Given the description of an element on the screen output the (x, y) to click on. 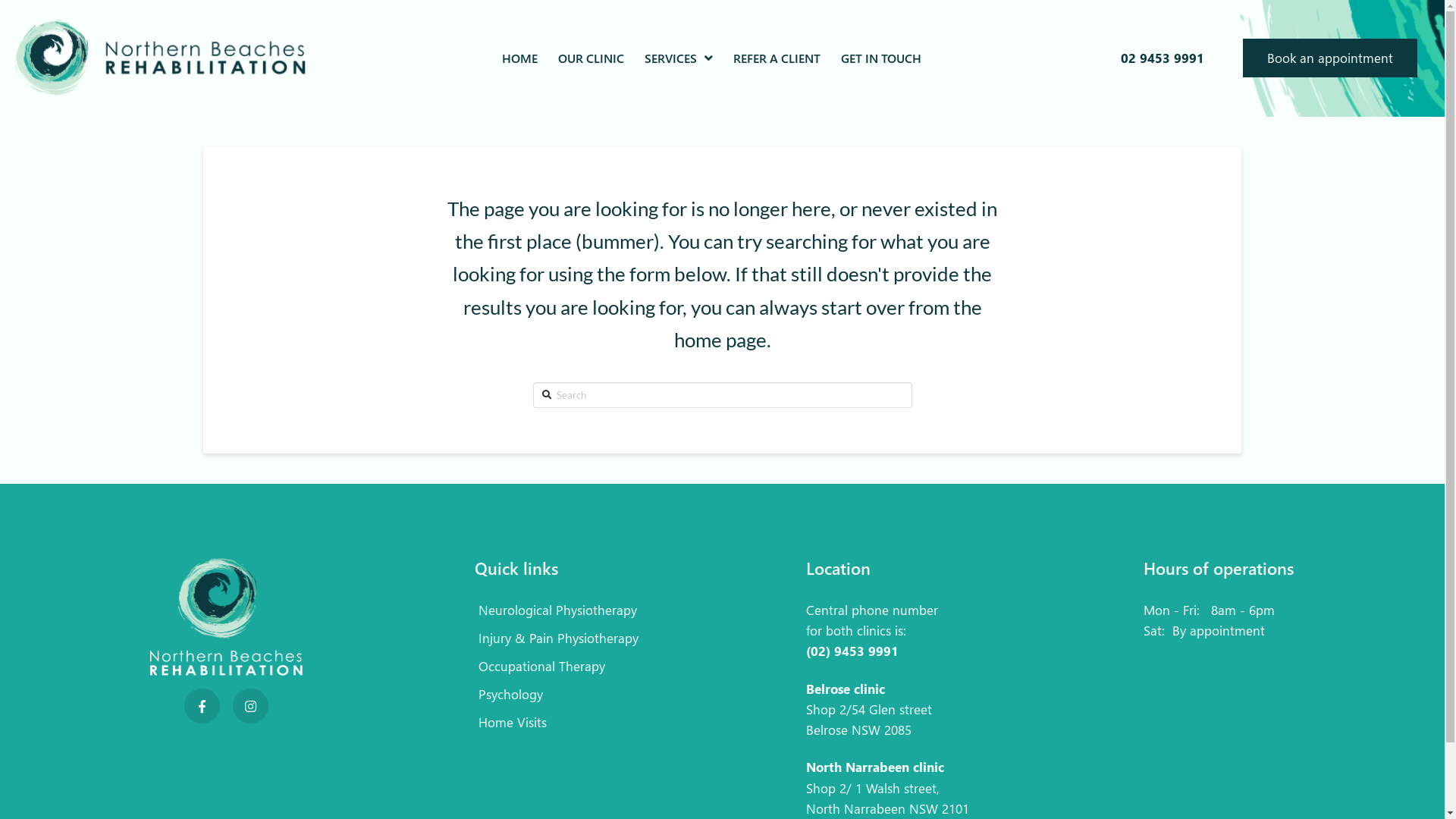
OUR CLINIC Element type: text (590, 58)
02 9453 9991 Element type: text (1162, 58)
SERVICES Element type: text (677, 58)
Book an appointment Element type: text (1329, 57)
REFER A CLIENT Element type: text (776, 58)
Psychology Element type: text (556, 698)
Injury & Pain Physiotherapy Element type: text (556, 641)
HOME Element type: text (519, 58)
GET IN TOUCH Element type: text (880, 58)
Neurological Physiotherapy Element type: text (556, 613)
Occupational Therapy Element type: text (556, 669)
(02) 9453 9991 Element type: text (852, 650)
Home Visits Element type: text (556, 726)
